Given the description of an element on the screen output the (x, y) to click on. 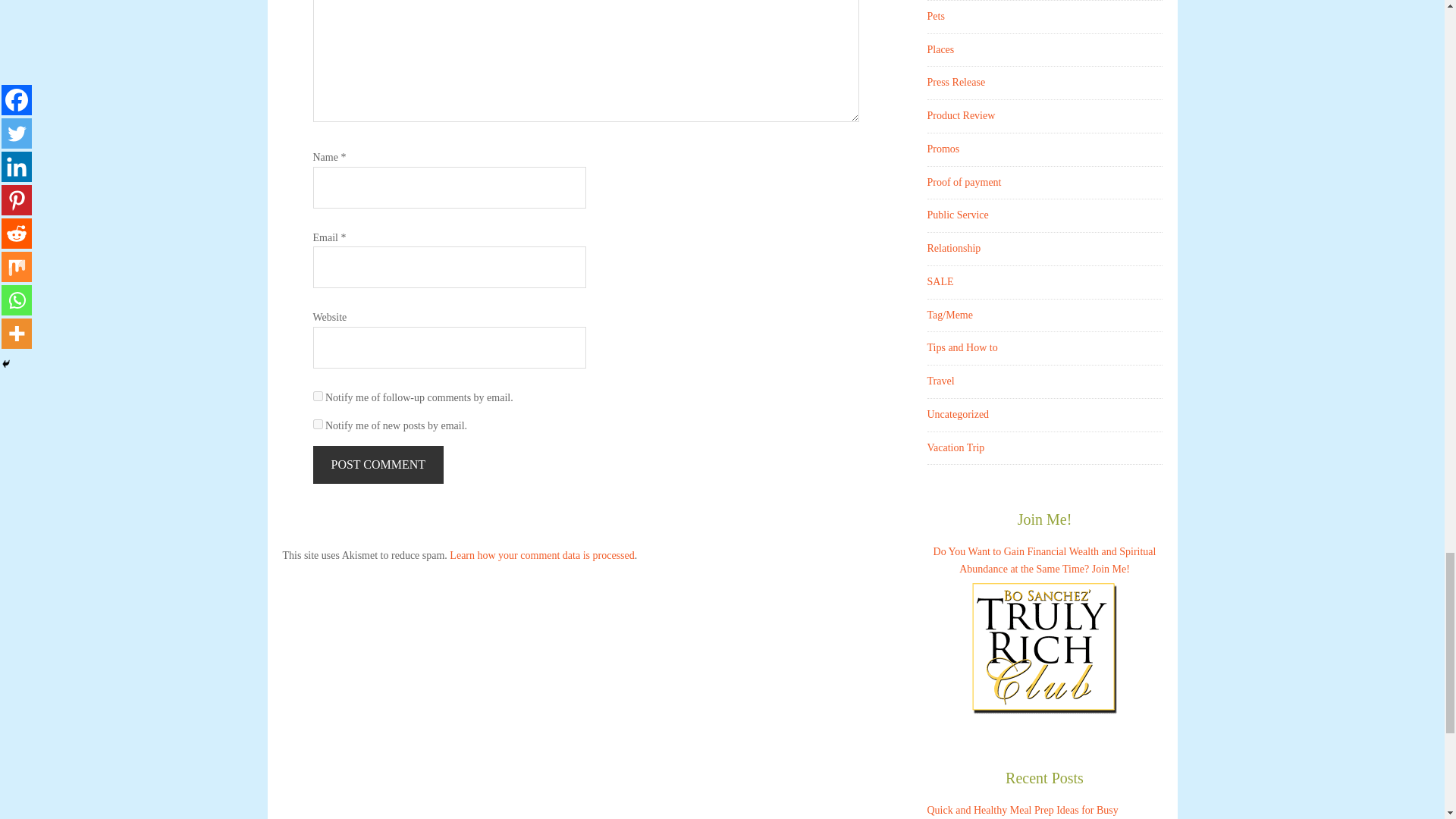
subscribe (317, 424)
subscribe (317, 396)
Post Comment (378, 464)
